Given the description of an element on the screen output the (x, y) to click on. 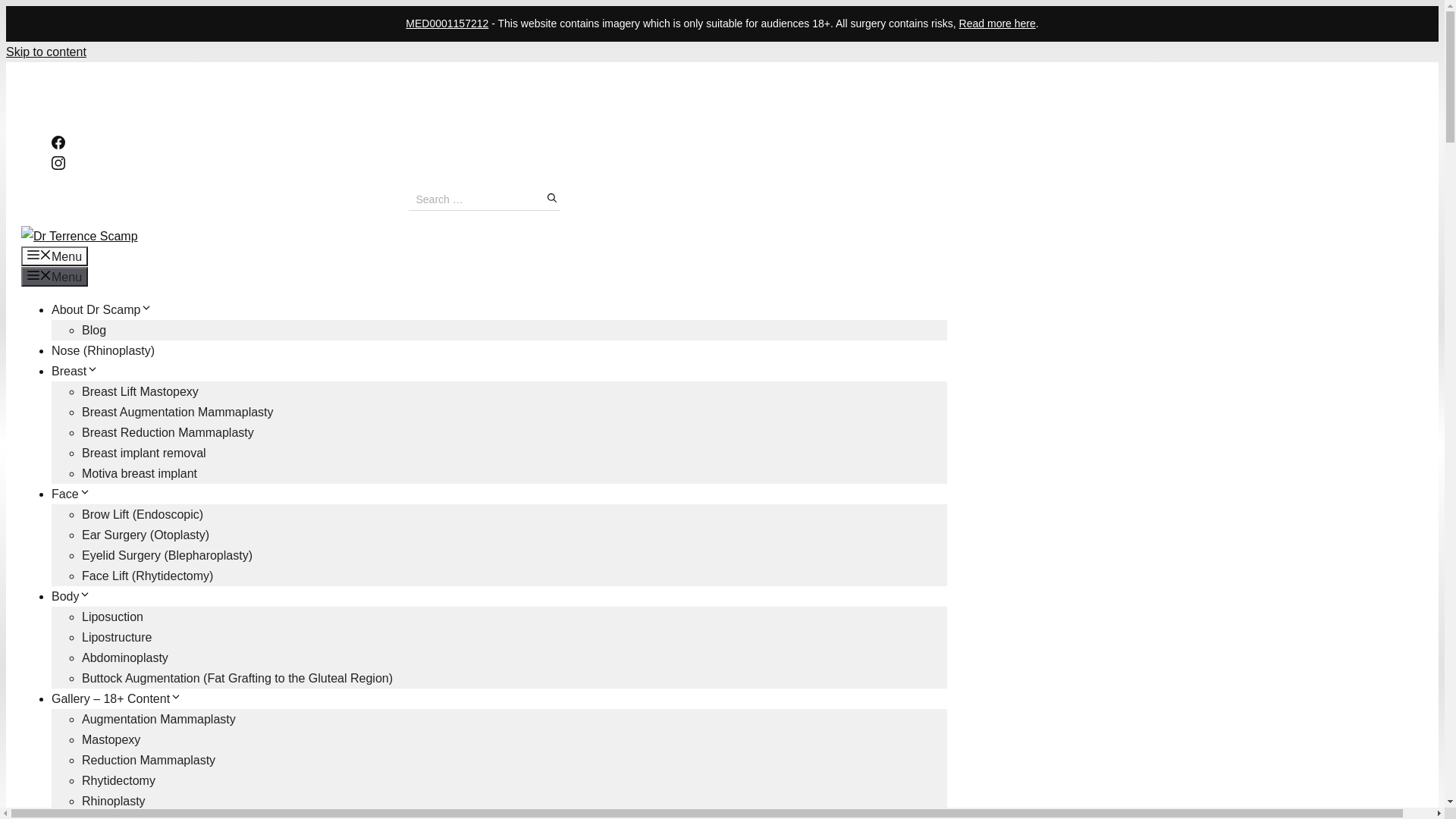
Lipostructure Element type: text (116, 636)
MED0001157212 Element type: text (446, 23)
Face Lift (Rhytidectomy) Element type: text (147, 575)
Skip to content Element type: text (46, 51)
Blog Element type: text (93, 329)
Breast implant removal Element type: text (143, 452)
Menu Element type: text (54, 276)
Rhytidectomy Element type: text (118, 780)
Ear Surgery (Otoplasty) Element type: text (145, 534)
Motiva breast implant Element type: text (139, 473)
Liposuction Element type: text (112, 616)
Face Element type: text (71, 493)
Buttock Augmentation (Fat Grafting to the Gluteal Region) Element type: text (236, 677)
Breast Reduction Mammaplasty Element type: text (167, 432)
Augmentation Mammaplasty Element type: text (158, 718)
Reduction Mammaplasty Element type: text (148, 759)
Eyelid Surgery (Blepharoplasty) Element type: text (166, 555)
Search for: Element type: hover (483, 199)
Abdominoplasty Element type: text (124, 657)
Body Element type: text (71, 595)
Breast Element type: text (74, 370)
Nose (Rhinoplasty) Element type: text (102, 350)
(07) 5539 1000 Element type: text (62, 79)
Breast Lift Mastopexy Element type: text (139, 391)
Rhinoplasty Element type: text (113, 800)
Mastopexy Element type: text (110, 739)
Menu Element type: text (54, 256)
About Dr Scamp Element type: text (101, 309)
Breast Augmentation Mammaplasty Element type: text (177, 411)
Book a consultation Element type: text (159, 79)
Brow Lift (Endoscopic) Element type: text (142, 514)
Read more here Element type: text (997, 23)
